Given the description of an element on the screen output the (x, y) to click on. 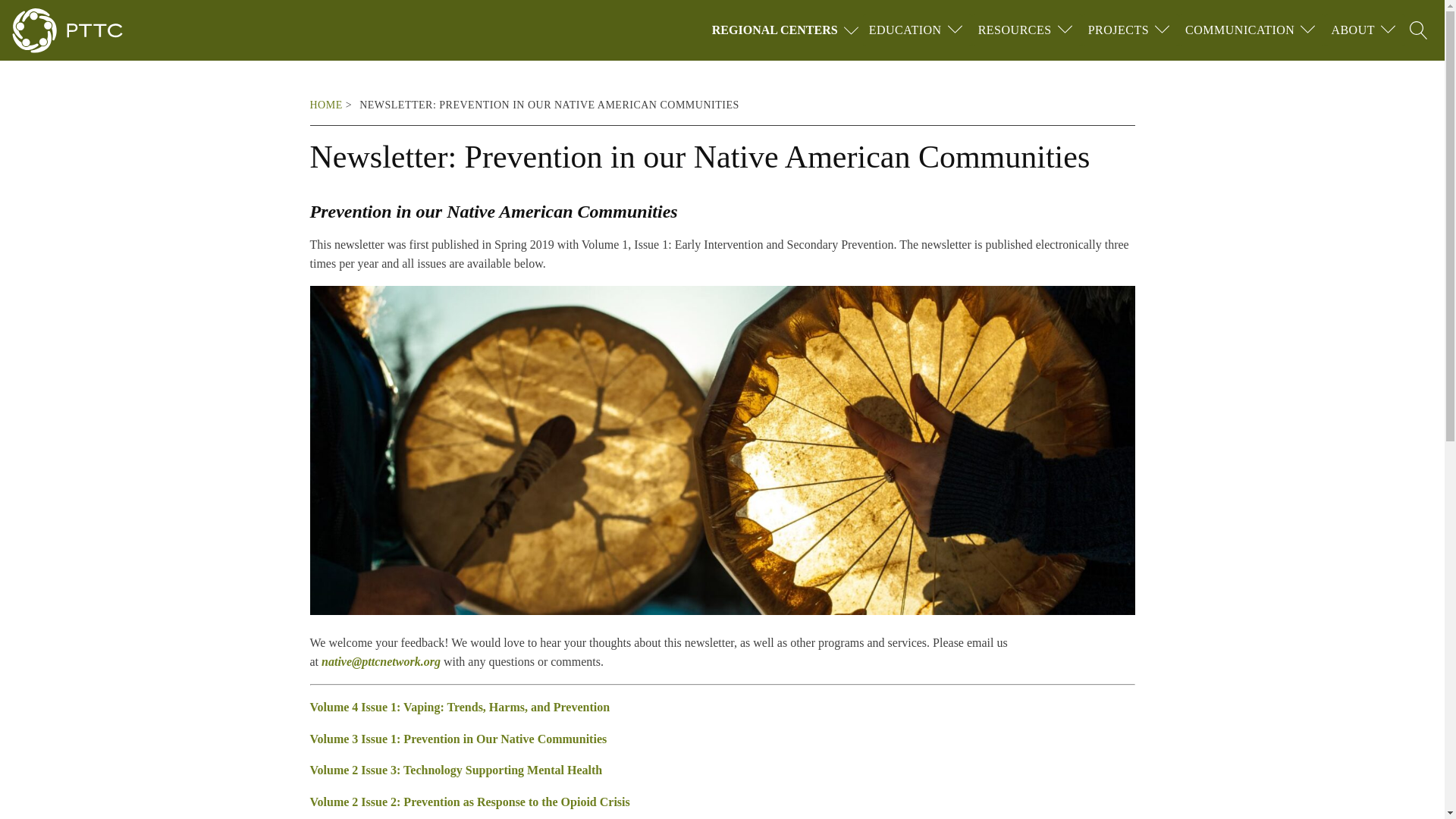
REGIONAL CENTERS (787, 30)
RESOURCES (1015, 30)
EDUCATION (905, 30)
PROJECTS (1117, 30)
